Given the description of an element on the screen output the (x, y) to click on. 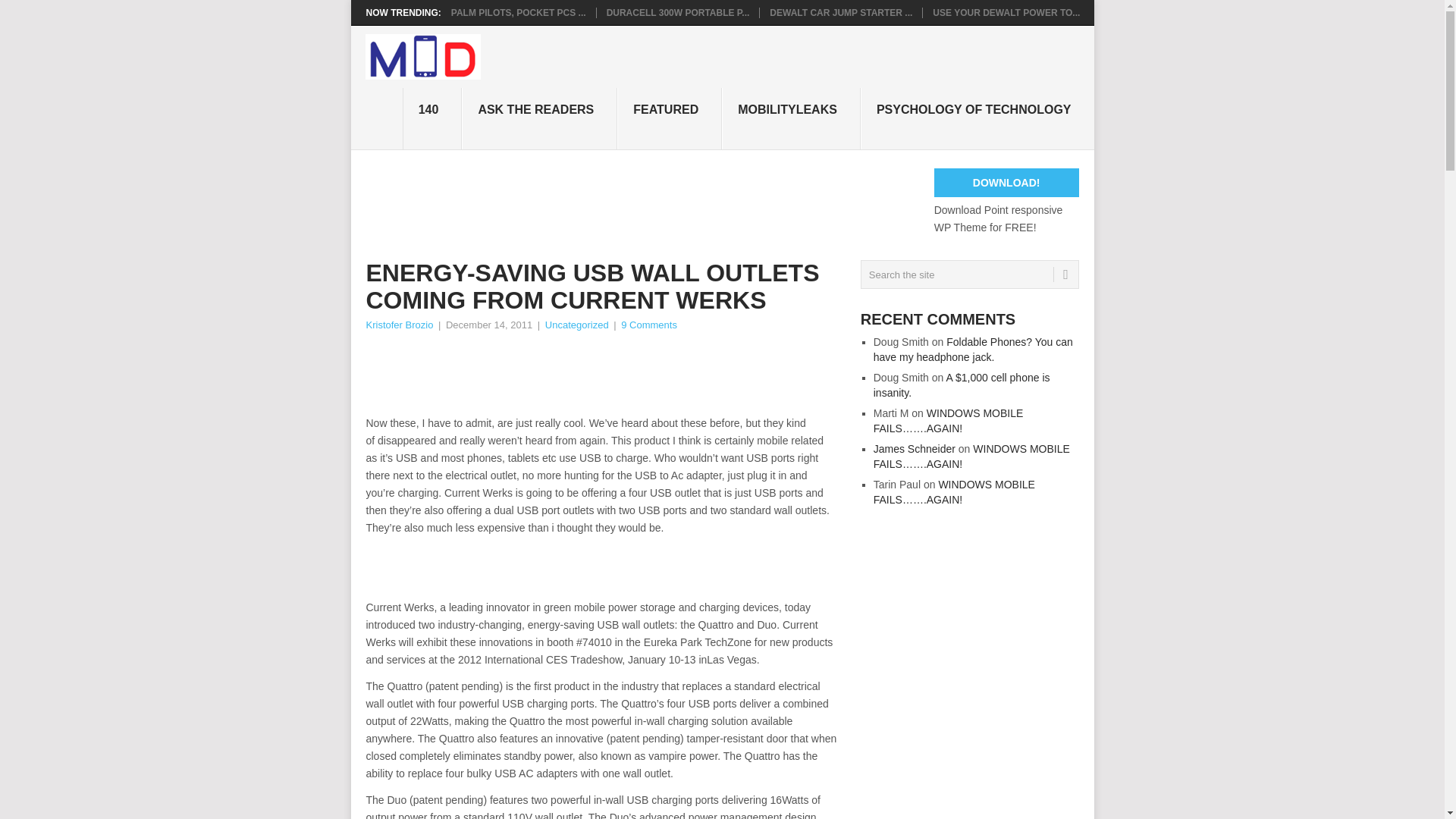
PSYCHOLOGY OF TECHNOLOGY (977, 118)
DURACELL 300W PORTABLE P... (678, 12)
Use Your DeWalt Power Tools Battery to Make Coffee! (1006, 12)
DOWNLOAD! (1006, 182)
DeWalt Car Jump Starter Review (841, 12)
Kristofer Brozio (398, 324)
Advertisement (641, 375)
Advertisement (641, 202)
Palm Pilots, Pocket PCs and Boogie Boards (518, 12)
Duracell 300w Portable Power Station Review (678, 12)
PALM PILOTS, POCKET PCS ... (518, 12)
Posts by Kristofer Brozio (398, 324)
ASK THE READERS (539, 118)
USE YOUR DEWALT POWER TO... (1006, 12)
Search the site (969, 274)
